Given the description of an element on the screen output the (x, y) to click on. 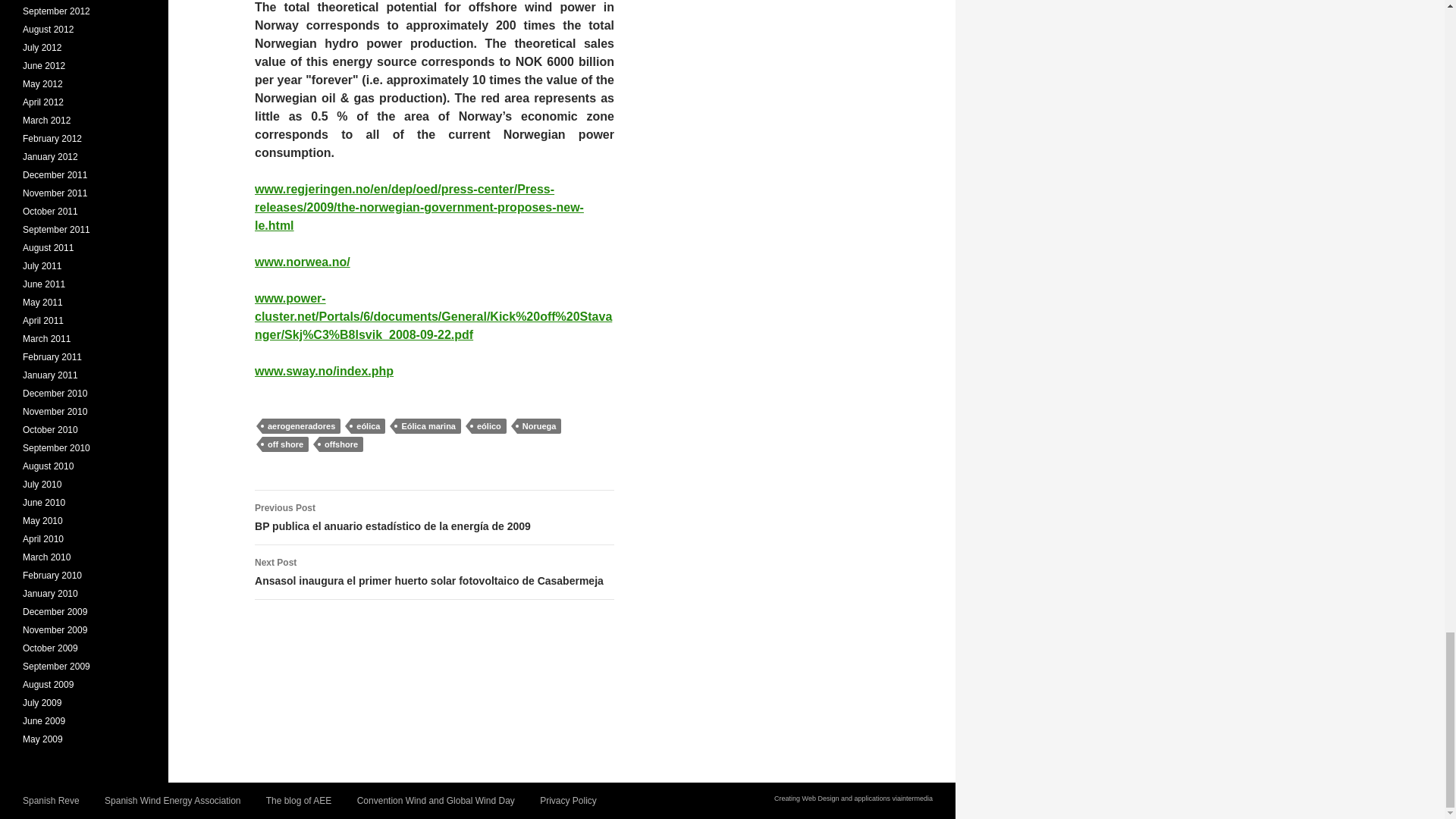
offshore (340, 444)
aerogeneradores (301, 426)
Noruega (539, 426)
off shore (285, 444)
